Given the description of an element on the screen output the (x, y) to click on. 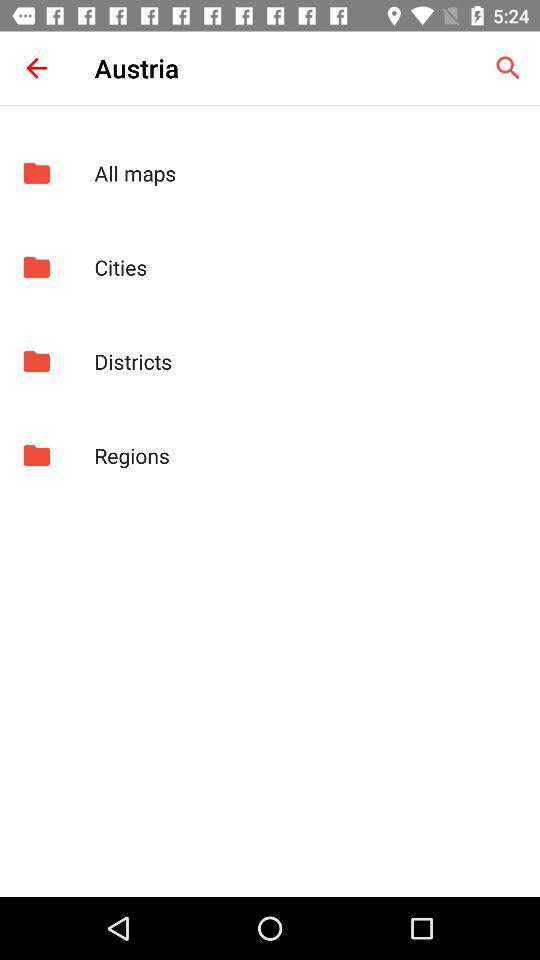
scroll to cities item (306, 267)
